Given the description of an element on the screen output the (x, y) to click on. 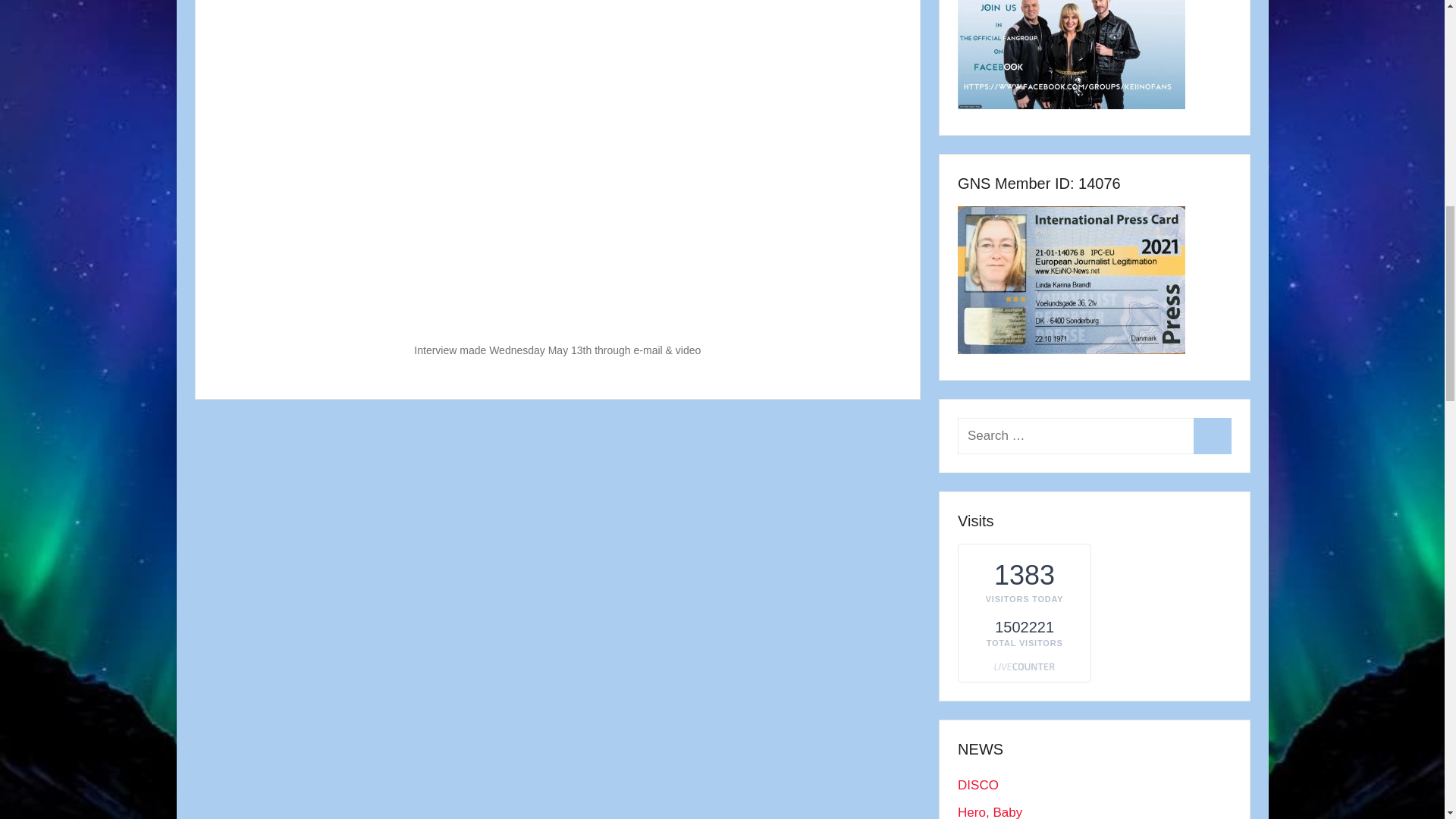
Hero, Baby (990, 812)
Search (1211, 435)
Search for: (1094, 435)
DISCO (978, 785)
